Given the description of an element on the screen output the (x, y) to click on. 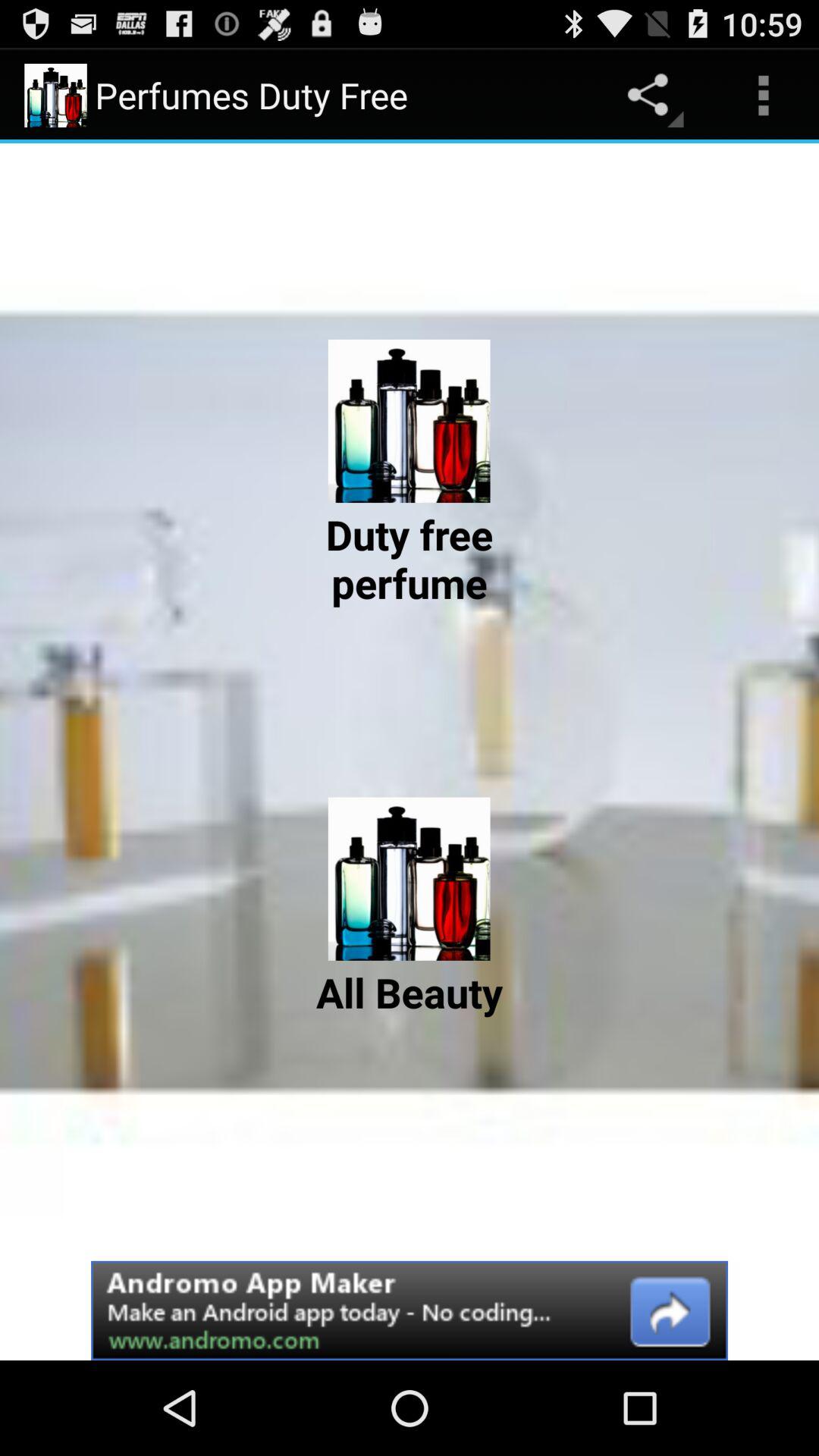
view advertisement (409, 1310)
